Given the description of an element on the screen output the (x, y) to click on. 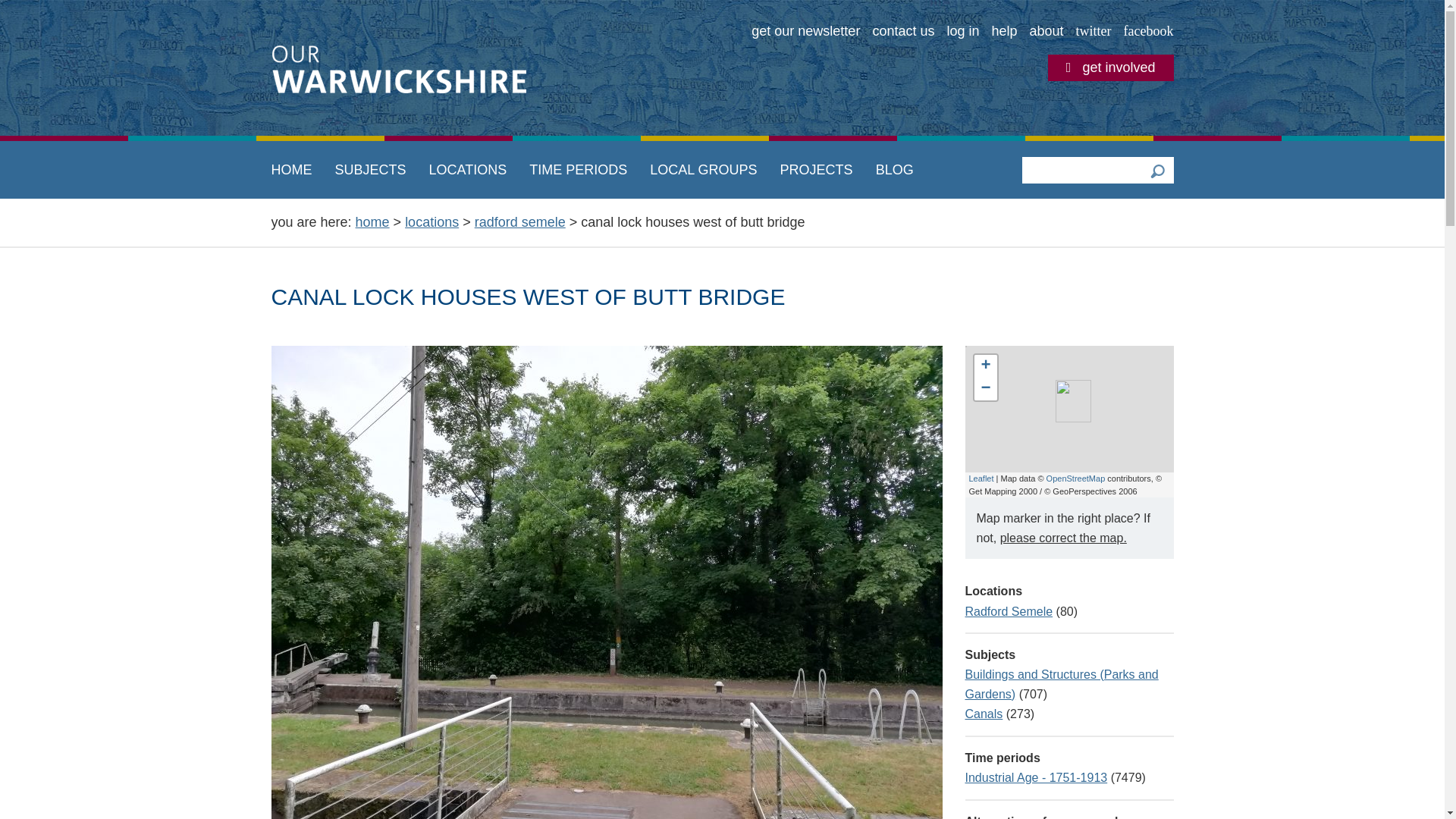
LOCATIONS (467, 169)
Leaflet (981, 478)
PROJECTS (816, 169)
get our newsletter (805, 31)
contact us (903, 31)
Radford Semele (1007, 611)
Search Our Warwickshire (1156, 170)
locations (431, 222)
radford semele (520, 222)
